Given the description of an element on the screen output the (x, y) to click on. 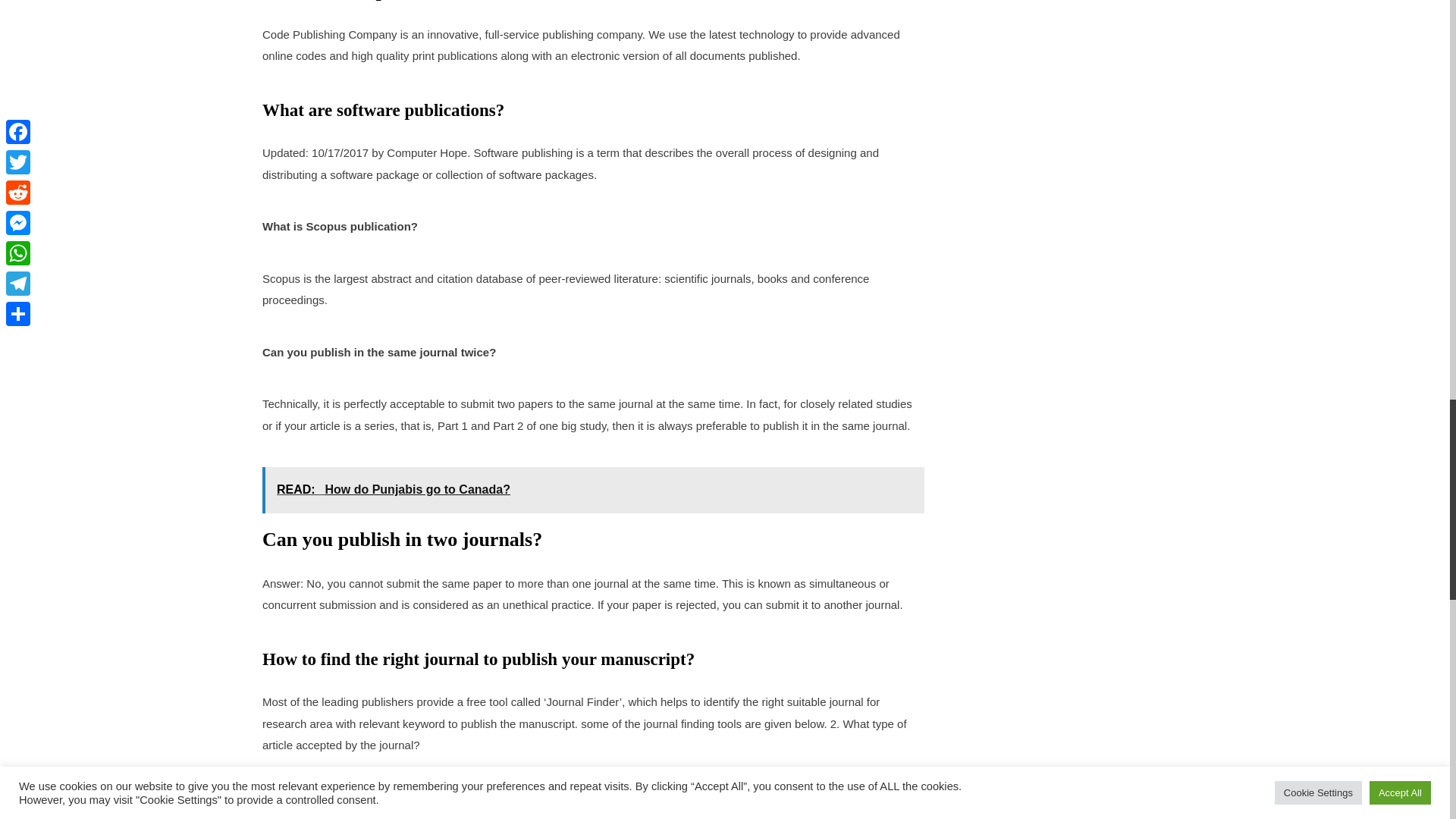
READ:   How do Punjabis go to Canada? (593, 489)
